Given the description of an element on the screen output the (x, y) to click on. 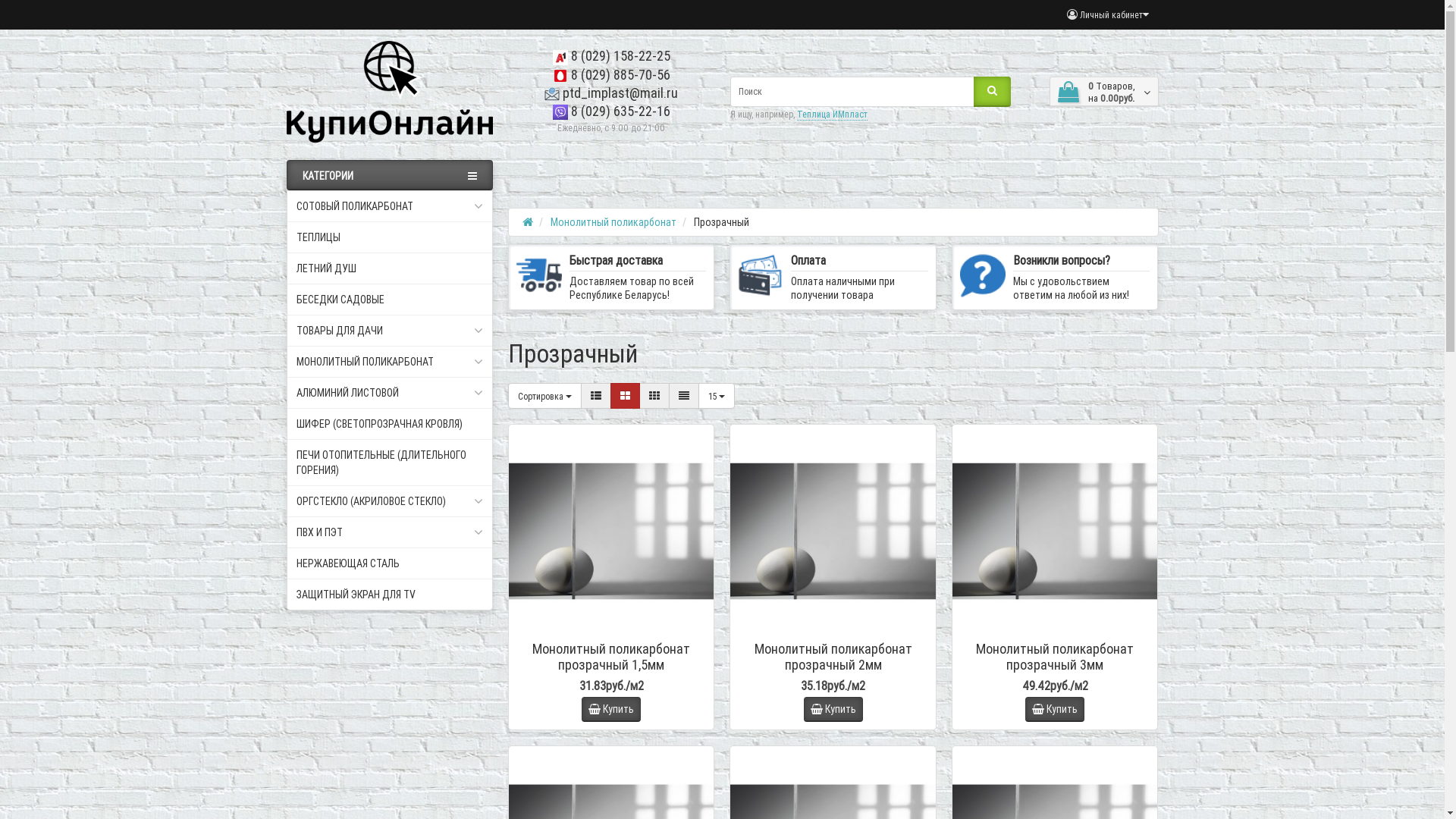
15 Element type: text (716, 395)
8 (029) 885-70-56 Element type: text (611, 74)
ptd_implast@mail.ru Element type: text (610, 92)
8 (029) 635-22-16 Element type: text (611, 110)
8 (029) 158-22-25 Element type: text (611, 55)
